Given the description of an element on the screen output the (x, y) to click on. 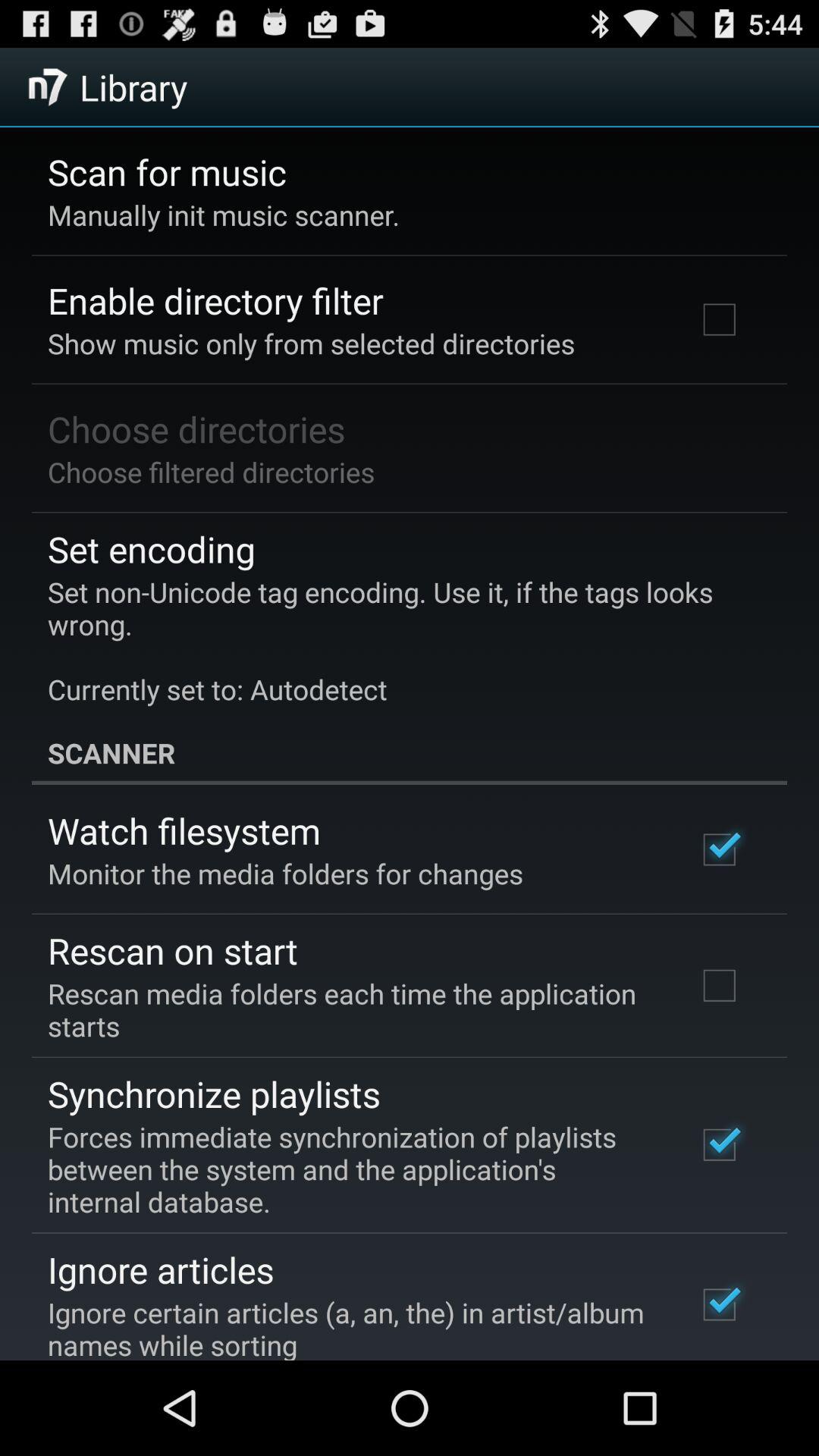
scroll to the watch filesystem icon (183, 830)
